Given the description of an element on the screen output the (x, y) to click on. 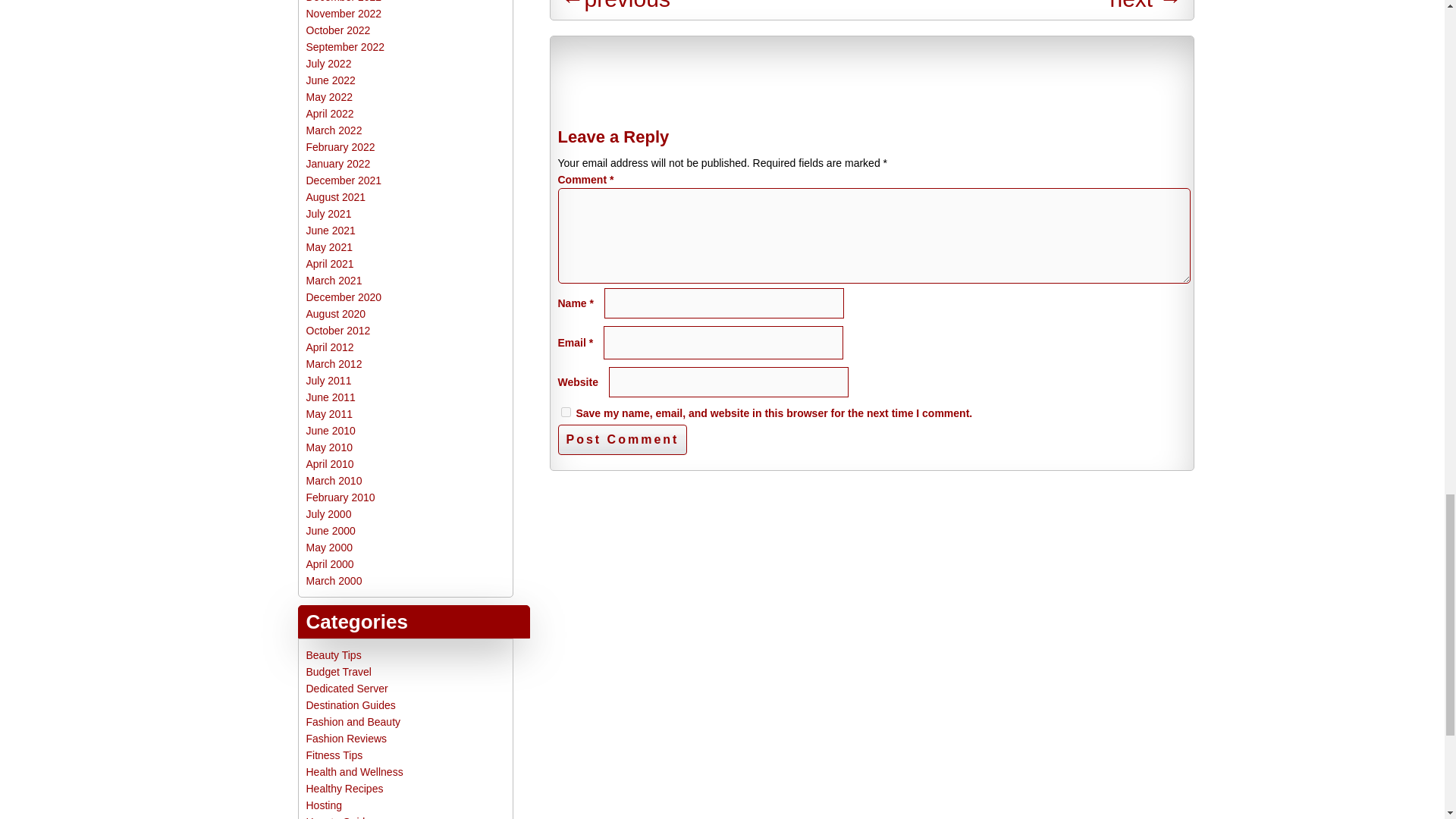
Post Comment (622, 440)
Post Comment (622, 440)
yes (565, 411)
